Given the description of an element on the screen output the (x, y) to click on. 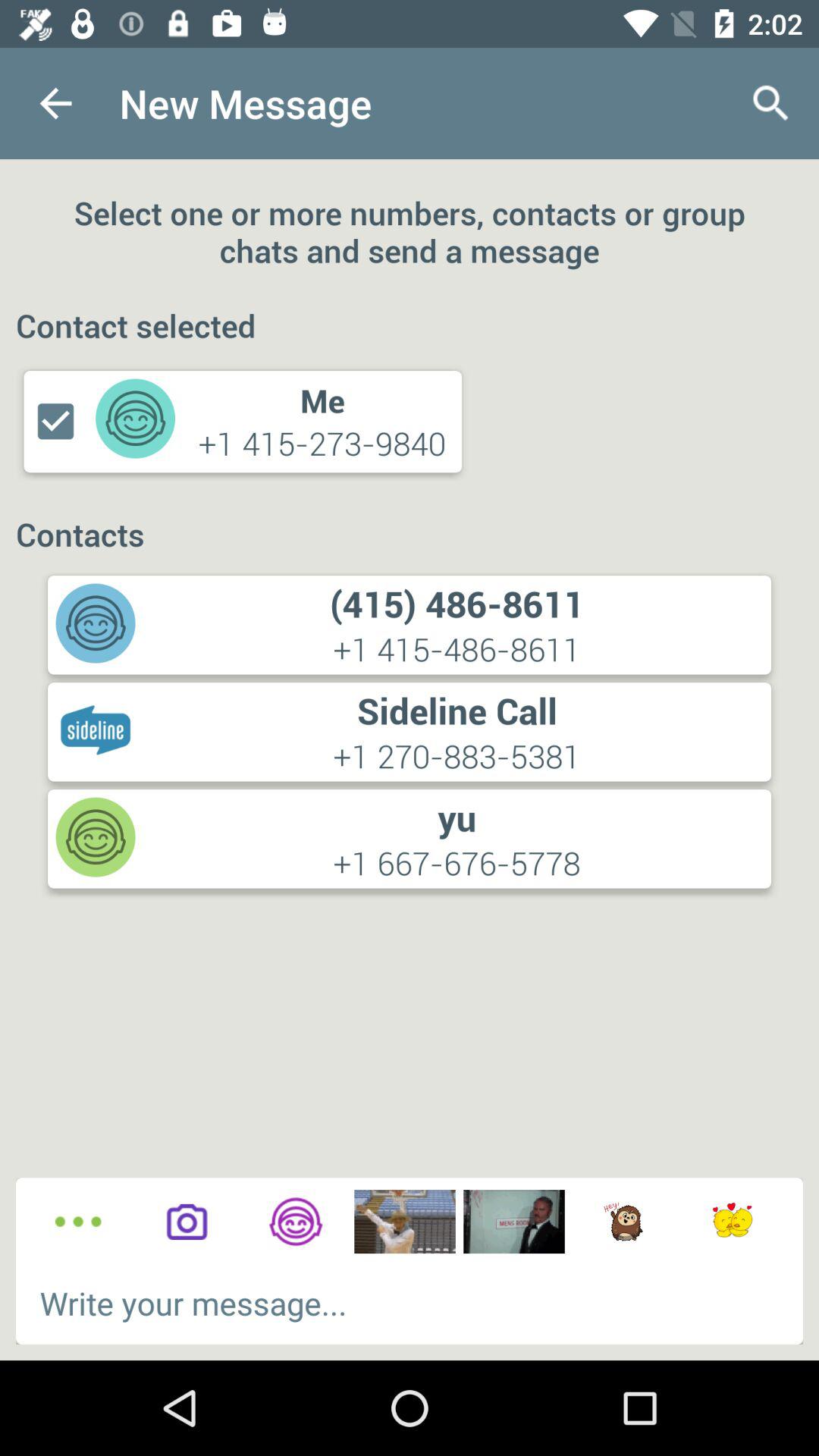
go to contacts (295, 1221)
